Given the description of an element on the screen output the (x, y) to click on. 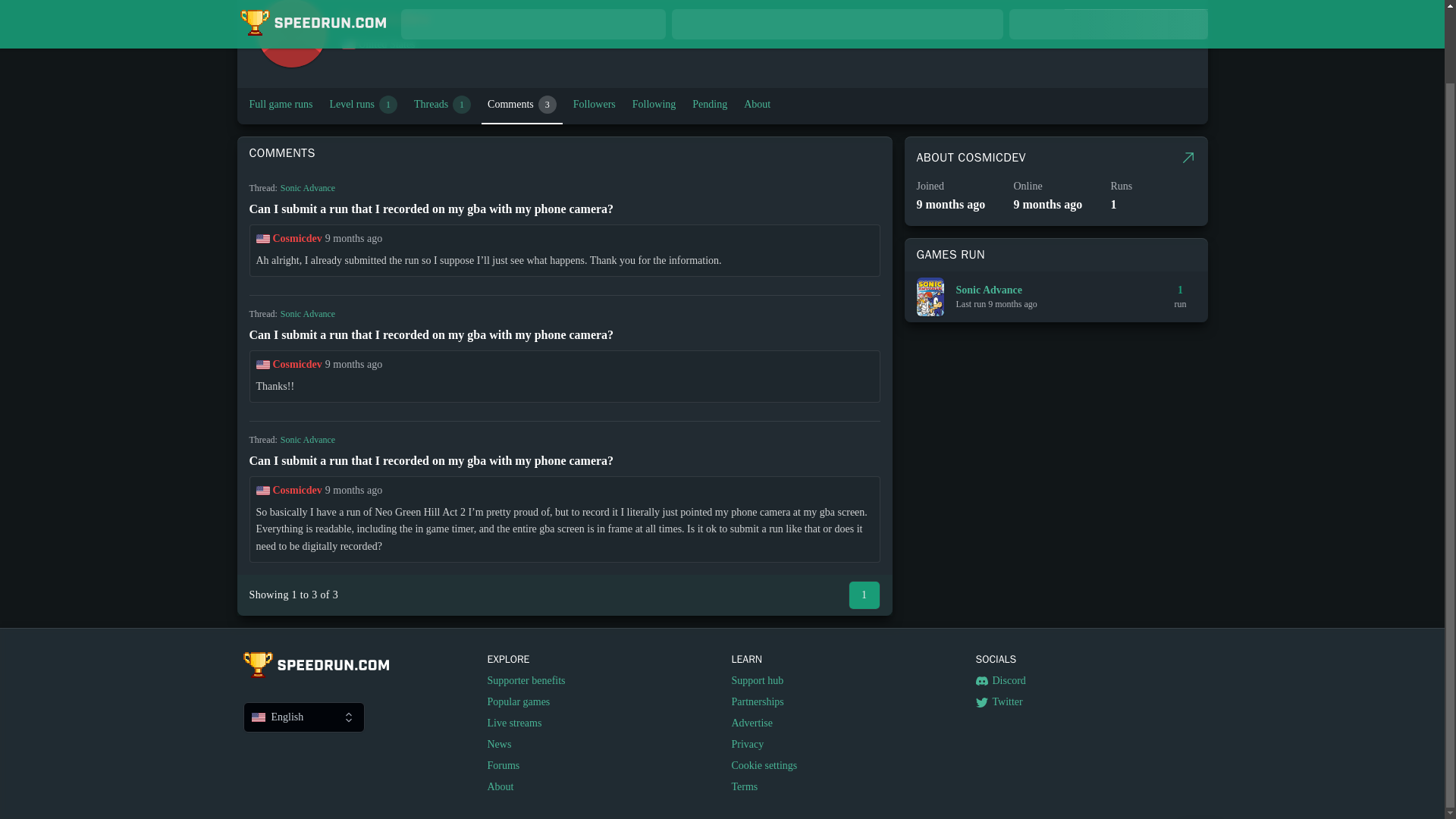
Supporter benefits (525, 680)
Popular games (525, 702)
English (303, 716)
Full game runs (442, 105)
Sonic Advance (280, 105)
Followers (307, 187)
Live streams (594, 105)
More... (525, 723)
Sonic Advance (521, 105)
Following (1187, 157)
